Given the description of an element on the screen output the (x, y) to click on. 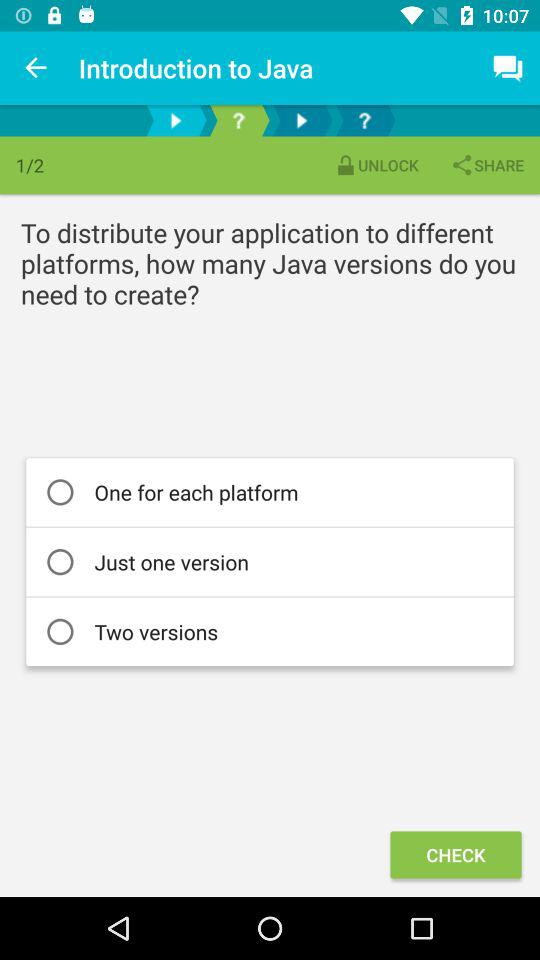
move forward one page (301, 120)
